Given the description of an element on the screen output the (x, y) to click on. 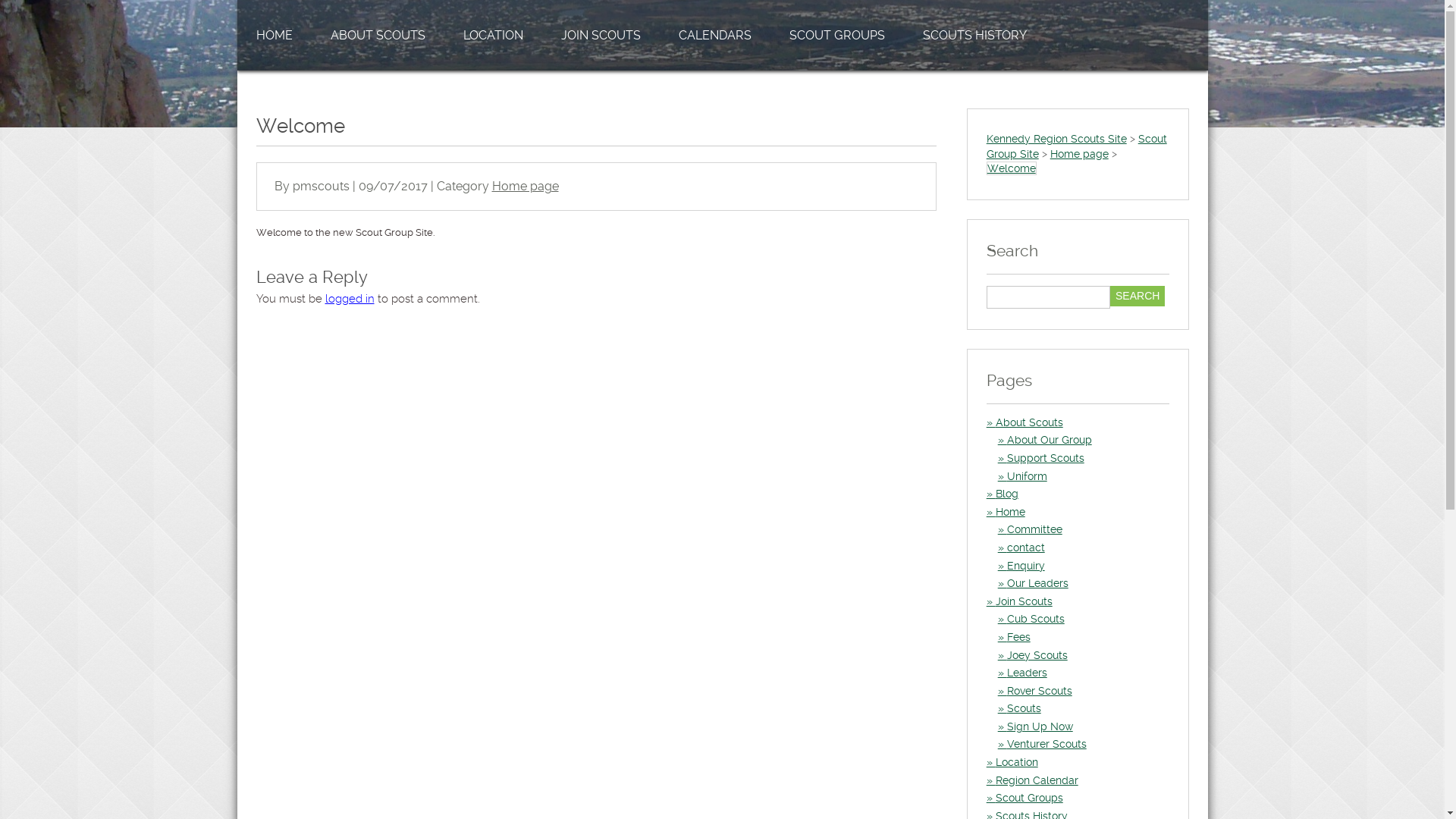
Home page Element type: text (1079, 153)
Rover Scouts Element type: text (1034, 690)
Uniform Element type: text (1022, 476)
SCOUT GROUPS Element type: text (836, 35)
JOIN SCOUTS Element type: text (599, 35)
Home page Element type: text (524, 185)
Cub Scouts Element type: text (1030, 618)
Kennedy Region Scouts Site Element type: text (1056, 138)
Location Element type: text (1012, 762)
Scouts Element type: text (1019, 708)
Join Scouts Element type: text (1019, 601)
Fees Element type: text (1013, 636)
LOCATION Element type: text (493, 35)
Scout Groups Element type: text (1024, 797)
Blog Element type: text (1002, 493)
Enquiry Element type: text (1020, 565)
contact Element type: text (1020, 547)
About Scouts Element type: text (1024, 422)
Region Calendar Element type: text (1032, 780)
Search Element type: text (1137, 295)
Leaders Element type: text (1022, 672)
Home Element type: text (1005, 511)
CALENDARS Element type: text (714, 35)
Scout Group Site Element type: text (1076, 146)
Our Leaders Element type: text (1032, 583)
Committee Element type: text (1029, 529)
logged in Element type: text (348, 298)
HOME Element type: text (273, 35)
Support Scouts Element type: text (1040, 457)
Venturer Scouts Element type: text (1041, 743)
Joey Scouts Element type: text (1032, 655)
Sign Up Now Element type: text (1035, 726)
Welcome Element type: text (1011, 168)
SCOUTS HISTORY Element type: text (974, 35)
About Our Group Element type: text (1044, 439)
ABOUT SCOUTS Element type: text (376, 35)
